Given the description of an element on the screen output the (x, y) to click on. 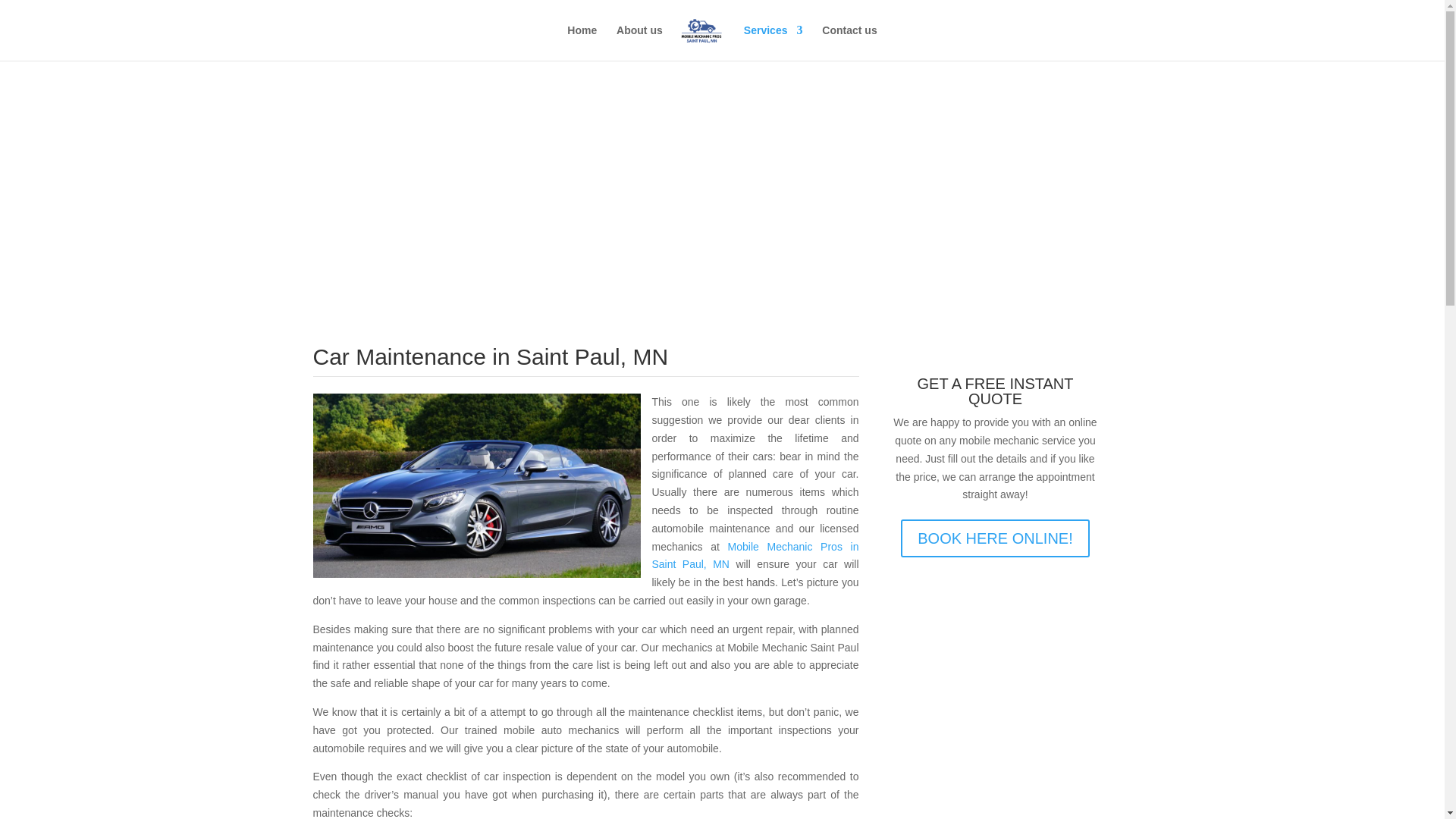
About us (638, 42)
Contact us (849, 42)
BOOK HERE ONLINE! (995, 538)
Services (773, 42)
Mobile Mechanic Pros in Saint Paul, MN (755, 555)
